Given the description of an element on the screen output the (x, y) to click on. 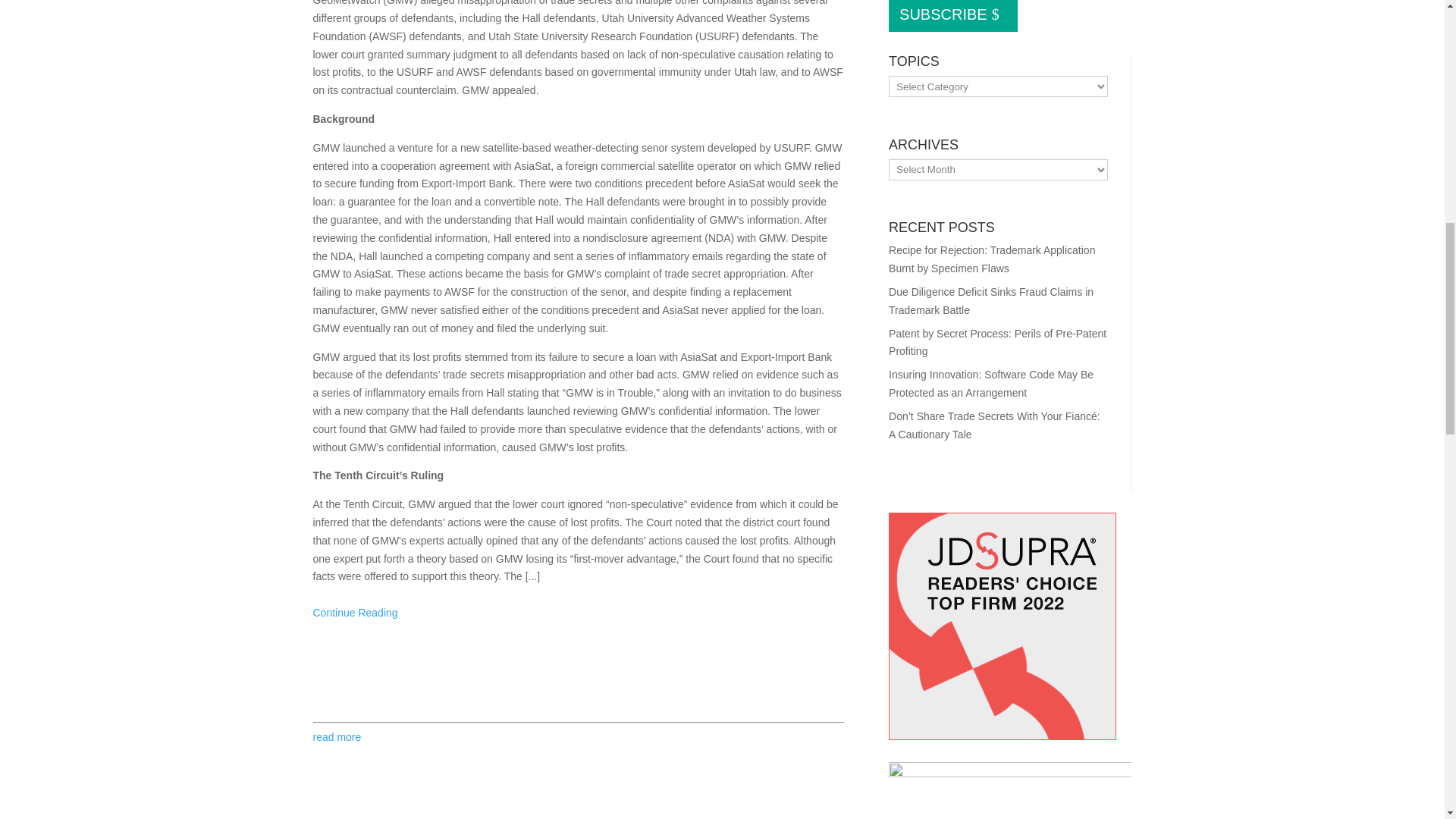
Continue Reading (355, 612)
Print (324, 680)
Share on LinkedIn (445, 680)
Share on Facebook (415, 680)
Share on X (384, 680)
E-Mail (354, 680)
